Given the description of an element on the screen output the (x, y) to click on. 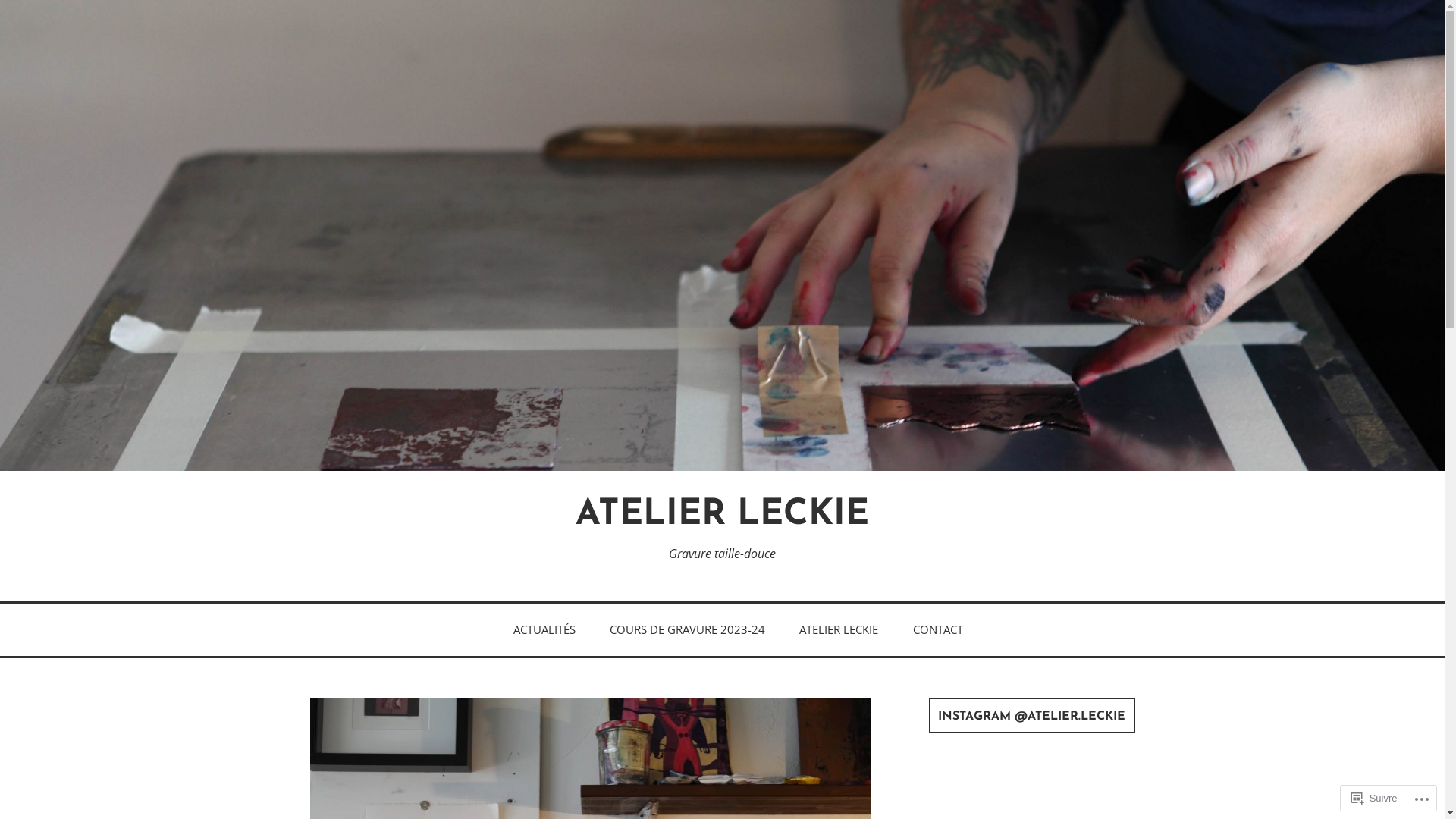
Suivre Element type: text (1374, 797)
COURS DE GRAVURE 2023-24 Element type: text (687, 629)
CONTACT Element type: text (938, 629)
ATELIER LECKIE Element type: text (838, 629)
ATELIER LECKIE Element type: text (722, 515)
